Given the description of an element on the screen output the (x, y) to click on. 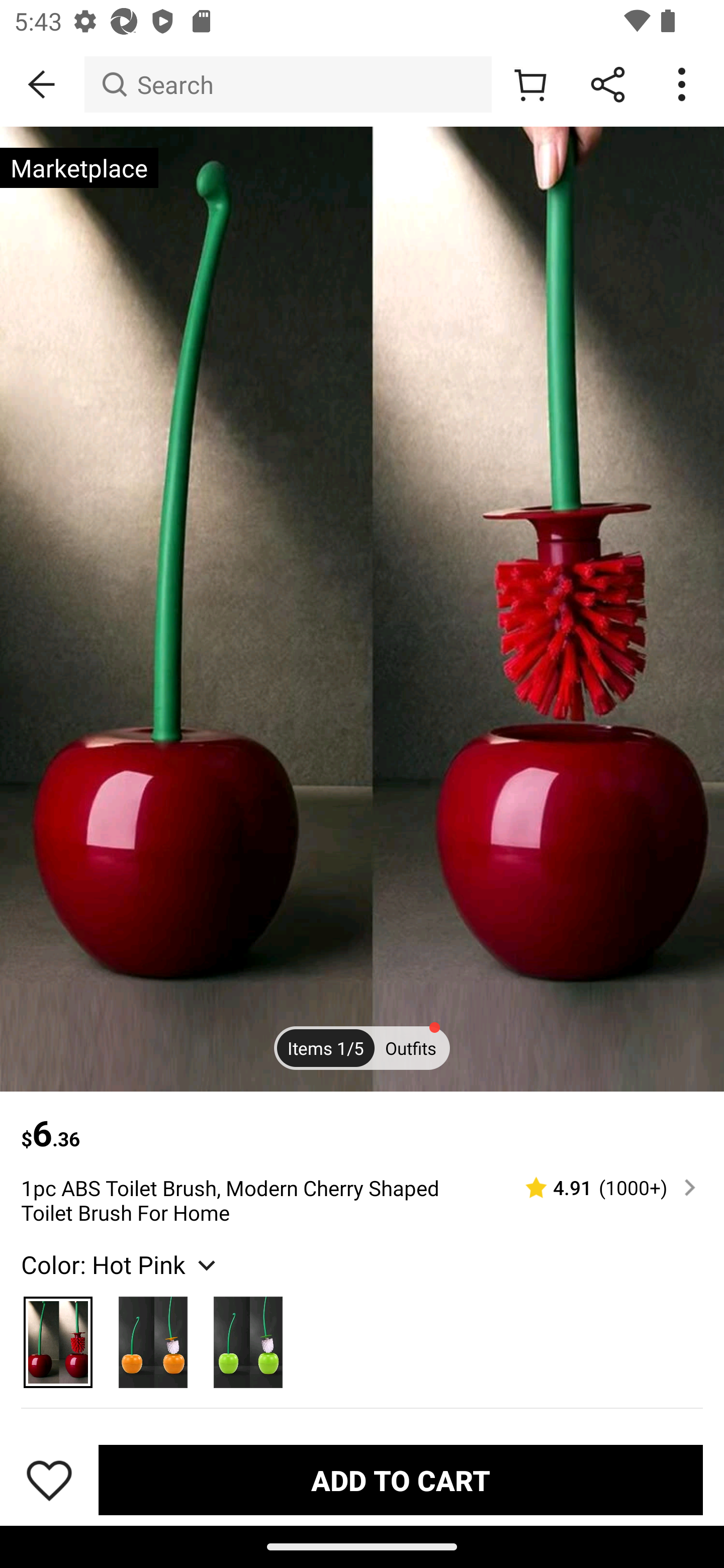
BACK (42, 84)
Search (287, 84)
Items 1/5 (325, 1047)
Outfits (410, 1047)
$6.36 (362, 1123)
4.91 (1000‎+) (602, 1186)
Color: Hot Pink (120, 1264)
Hot Pink (57, 1337)
Orange (152, 1337)
Green (247, 1337)
ADD TO CART (400, 1479)
Save (48, 1479)
